Given the description of an element on the screen output the (x, y) to click on. 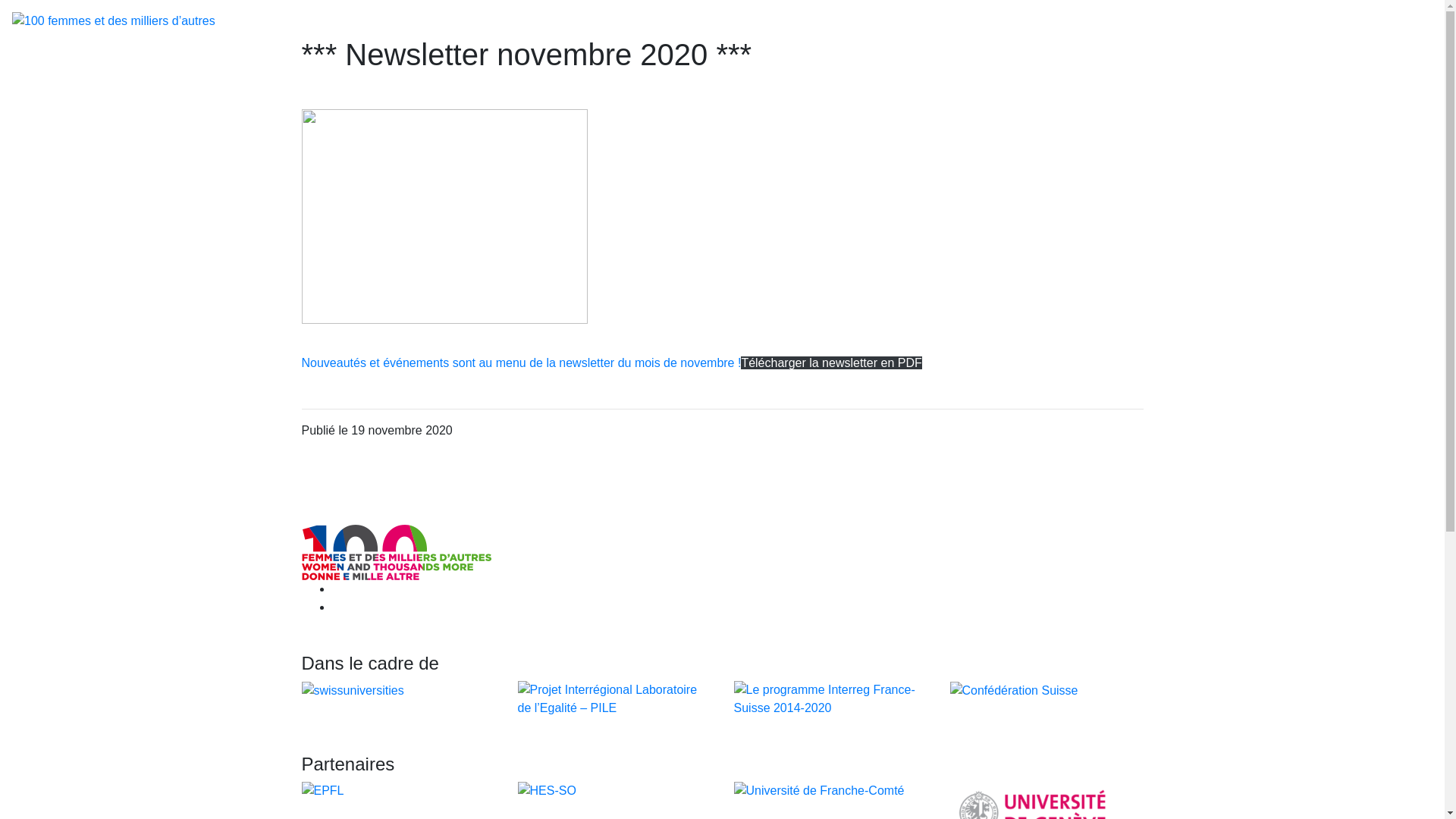
Contacts Element type: text (625, 21)
Portraits Element type: text (315, 21)
EPFL Element type: hover (322, 790)
swissuniversities Element type: hover (352, 689)
HES-SO Element type: hover (546, 790)
Publication Element type: text (379, 21)
Sources Element type: text (566, 21)
Campagne Element type: text (250, 21)
Le programme Interreg France-Suisse 2014-2020 Element type: hover (830, 697)
